Given the description of an element on the screen output the (x, y) to click on. 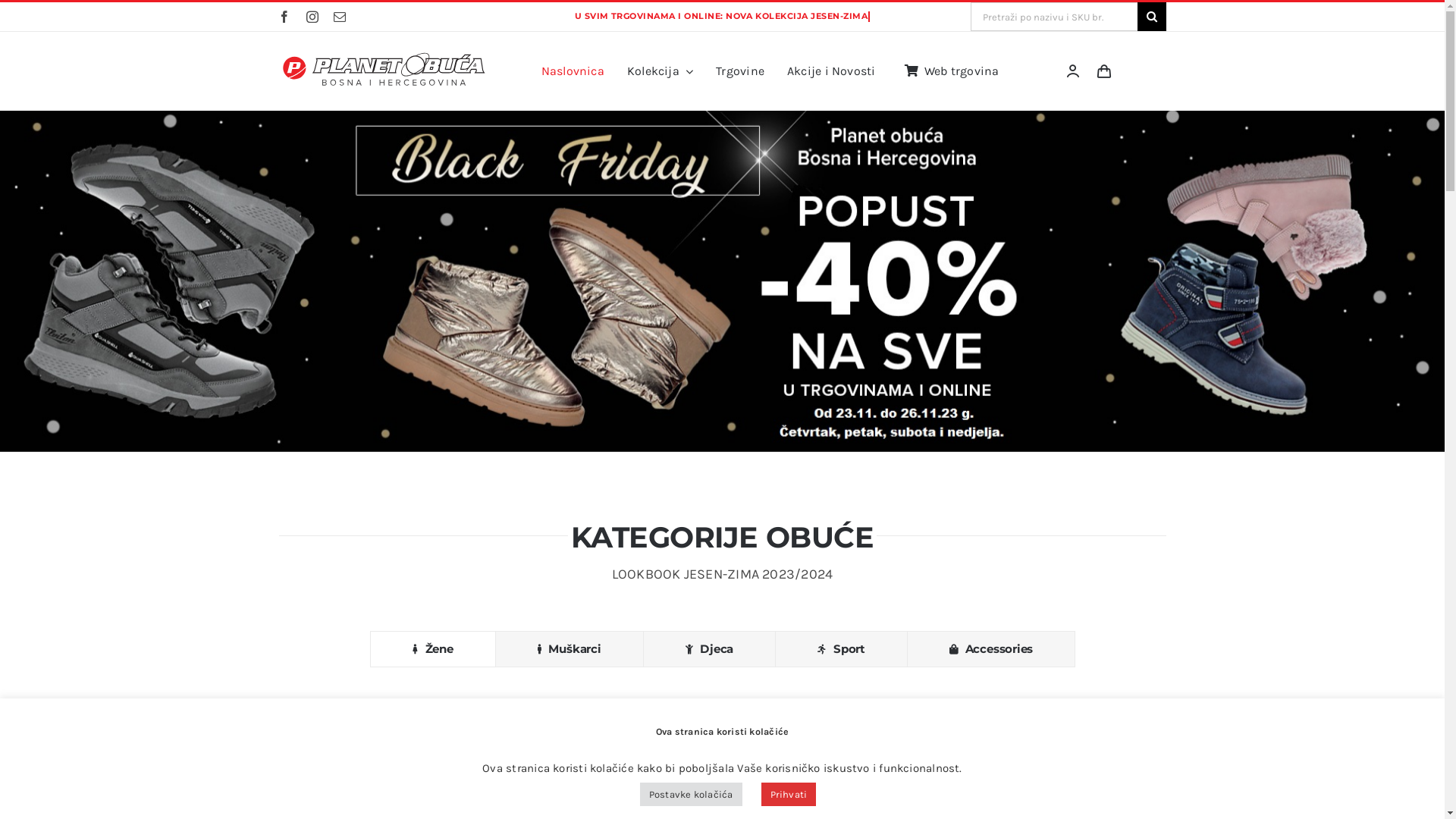
Trgovine Element type: text (739, 71)
Email: Element type: hover (339, 16)
Prijava Element type: text (1014, 213)
Web trgovina Element type: text (948, 71)
Accessories Element type: text (990, 648)
Instagram Element type: hover (312, 16)
Kolekcija Element type: text (660, 71)
Facebook Element type: hover (284, 16)
Djeca Element type: text (709, 648)
Sport Element type: text (841, 648)
Akcije i Novosti Element type: text (831, 71)
Naslovnica Element type: text (572, 71)
Prihvati Element type: text (788, 794)
